Given the description of an element on the screen output the (x, y) to click on. 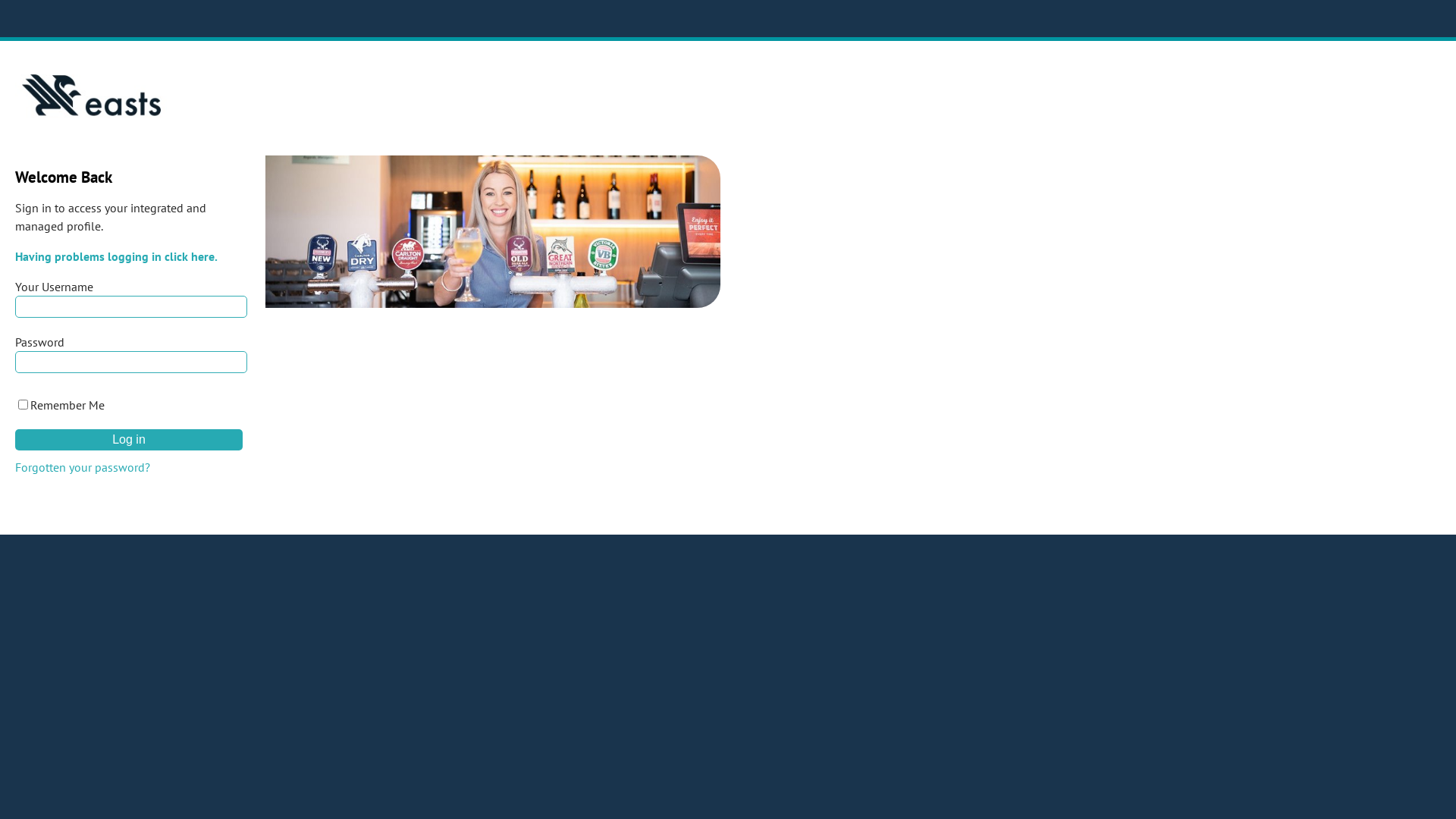
Log in Element type: text (128, 439)
Forgotten your password? Element type: text (82, 466)
Having problems logging in click here. Element type: text (116, 255)
